Given the description of an element on the screen output the (x, y) to click on. 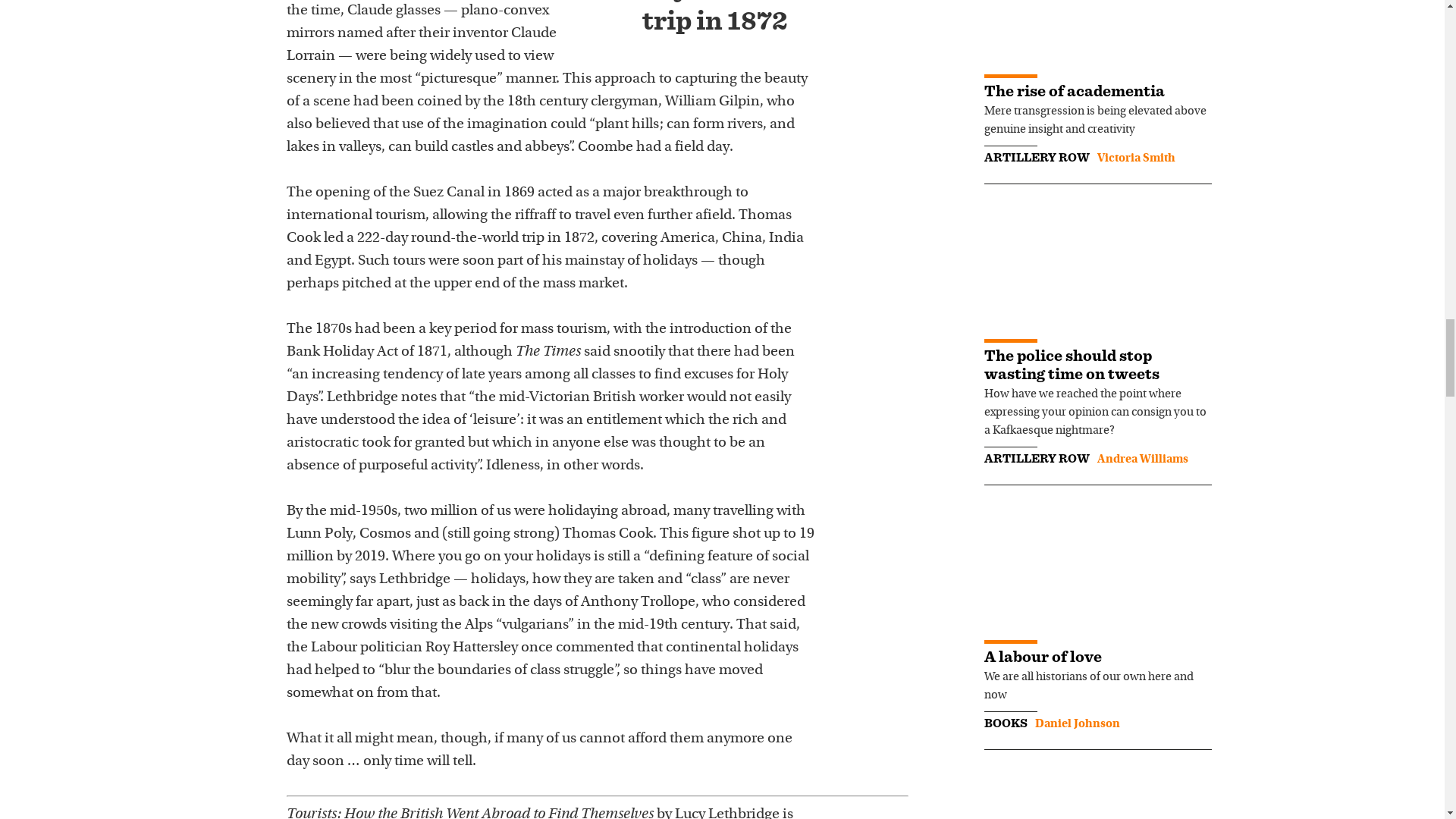
Posts by Andrea Williams (1142, 459)
Posts by Daniel Johnson (1076, 724)
Posts by Victoria Smith (1135, 158)
